Given the description of an element on the screen output the (x, y) to click on. 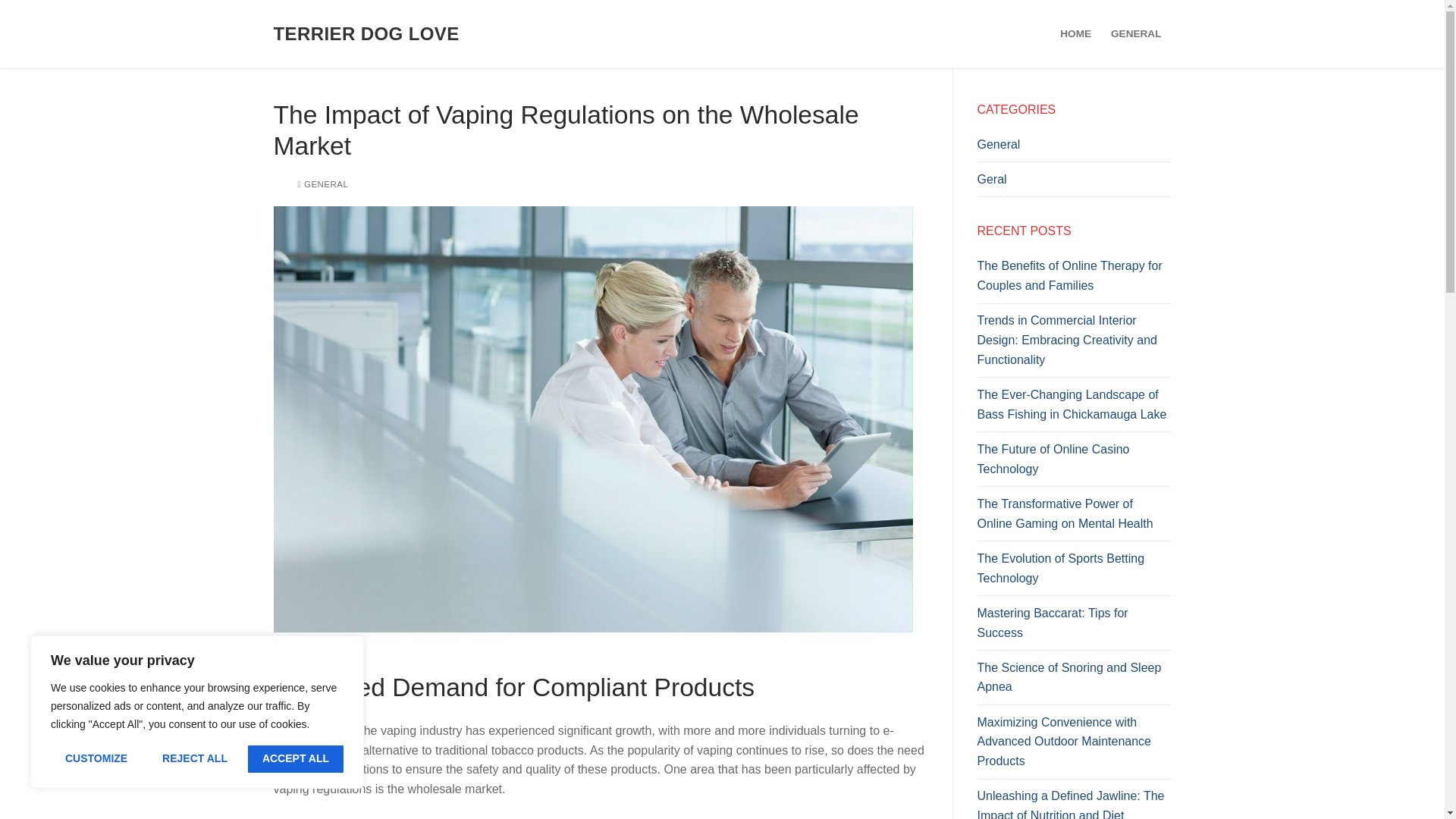
REJECT ALL (194, 759)
CUSTOMIZE (95, 759)
GENERAL (322, 184)
General (1073, 148)
The Transformative Power of Online Gaming on Mental Health (1073, 517)
GENERAL (1135, 33)
TERRIER DOG LOVE (365, 33)
The Future of Online Casino Technology (1073, 462)
ACCEPT ALL (295, 759)
Geral (1073, 183)
The Benefits of Online Therapy for Couples and Families (1073, 279)
